Given the description of an element on the screen output the (x, y) to click on. 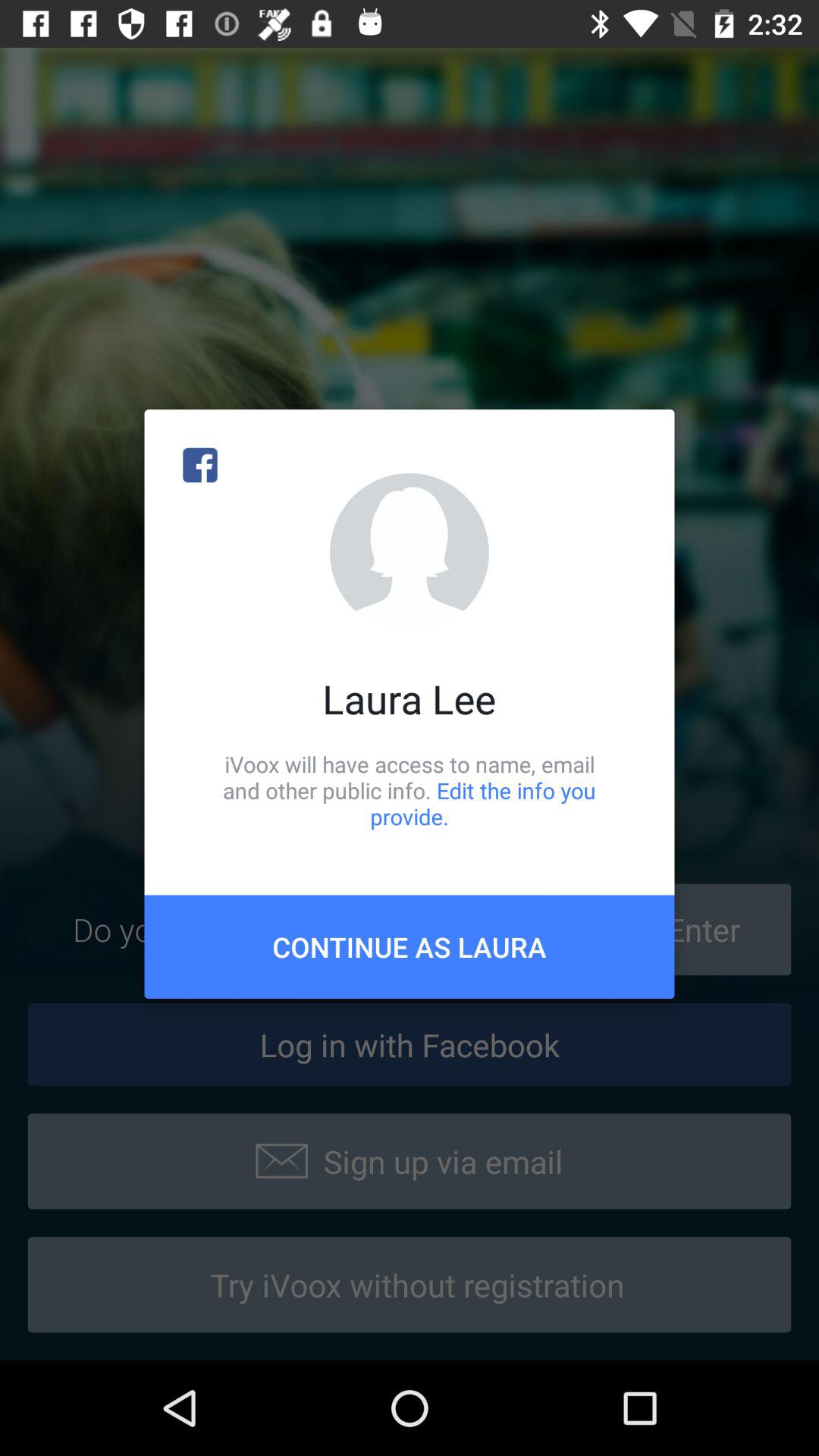
turn on icon below the laura lee item (409, 790)
